Given the description of an element on the screen output the (x, y) to click on. 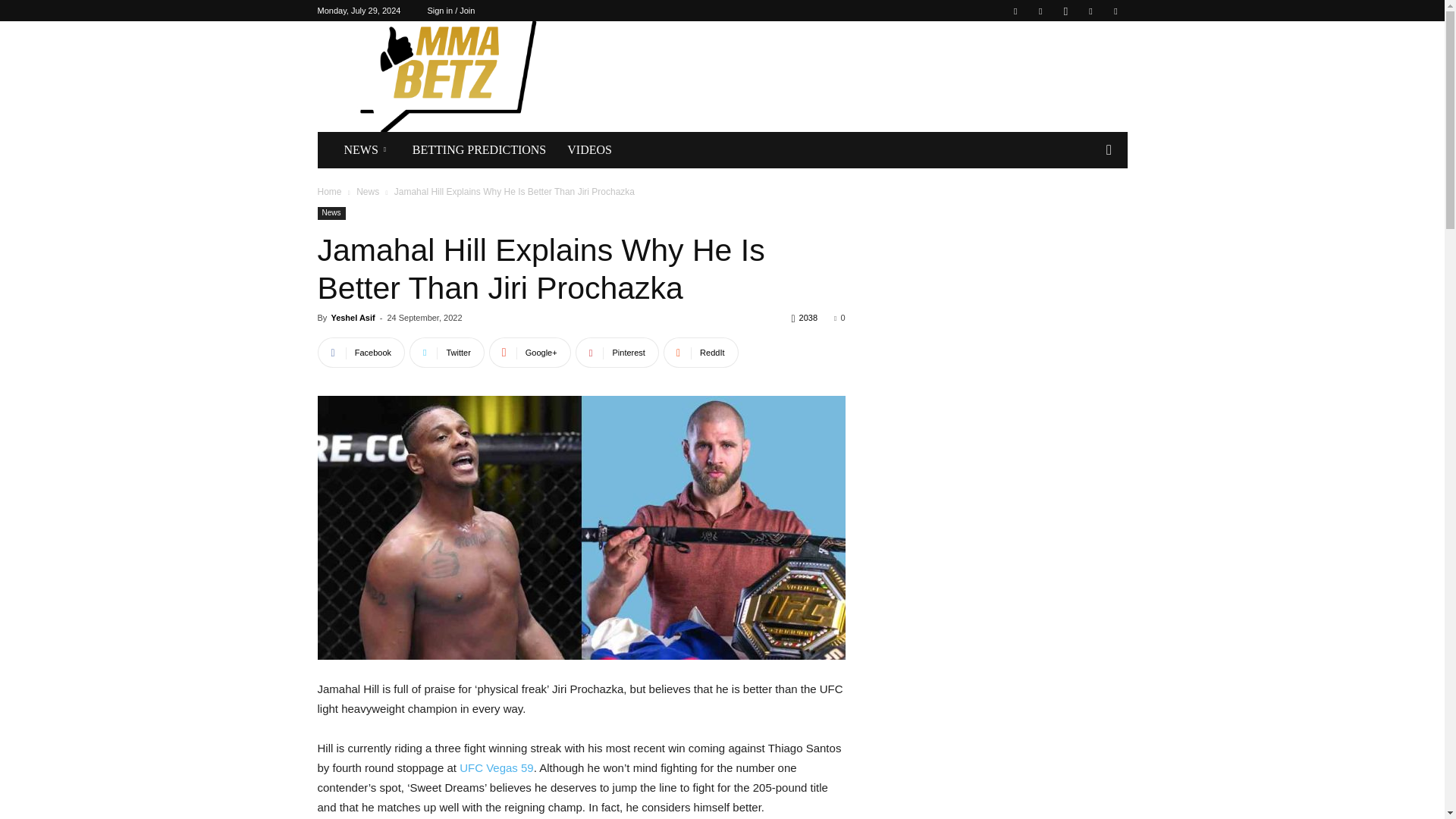
Twitter (1090, 10)
Instagram (1065, 10)
Facebook (1015, 10)
Youtube (1114, 10)
NEWS (367, 149)
View all posts in News (367, 191)
